Given the description of an element on the screen output the (x, y) to click on. 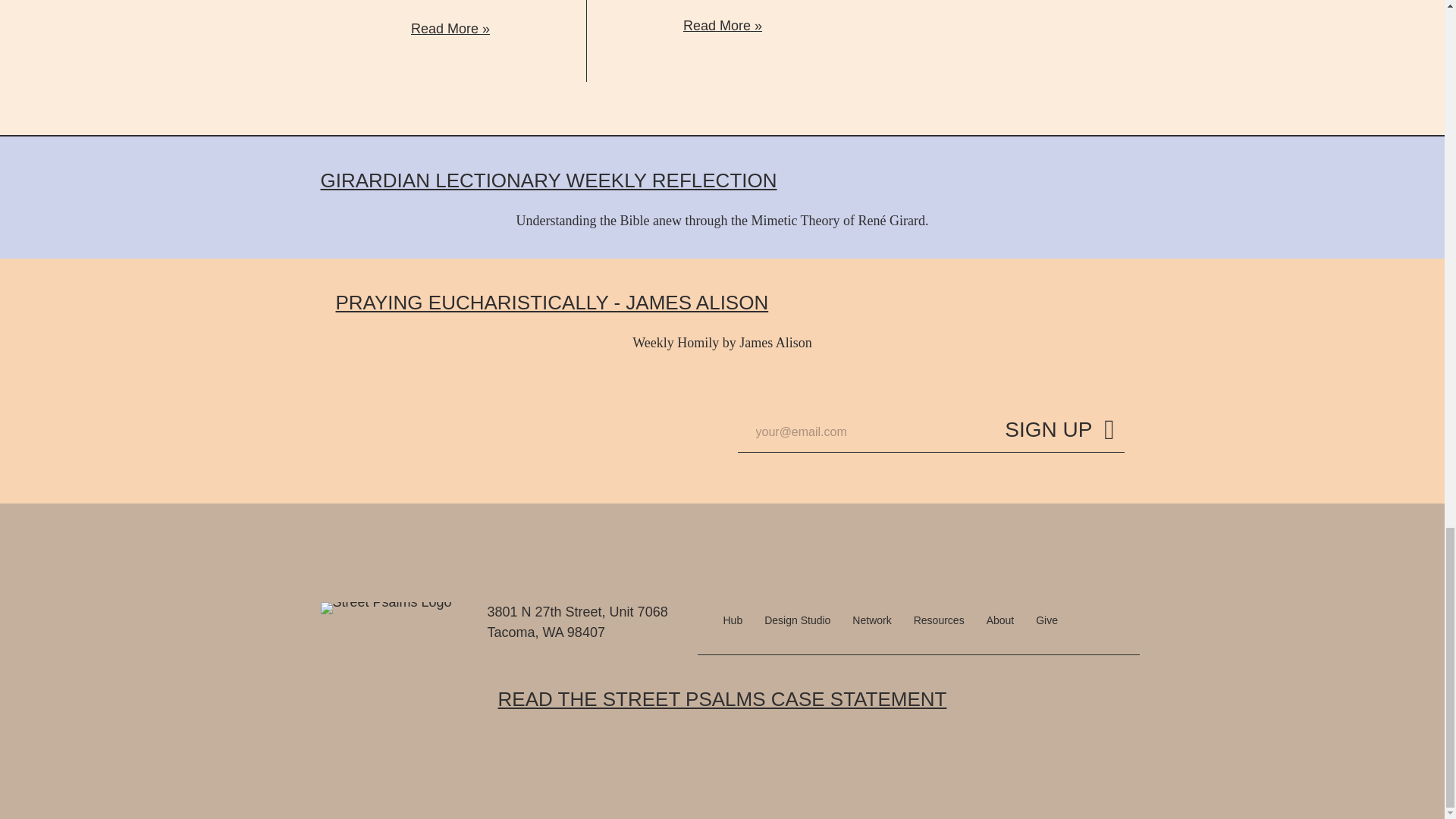
SIGN UP (1059, 433)
PRAYING EUCHARISTICALLY - JAMES ALISON (551, 302)
Design Studio (797, 620)
Hub (733, 620)
Praying Eucharistically - James Alison (551, 302)
GIRARDIAN LECTIONARY WEEKLY REFLECTION (548, 179)
Girardian Lectionary Weekly Reflection (548, 179)
